Given the description of an element on the screen output the (x, y) to click on. 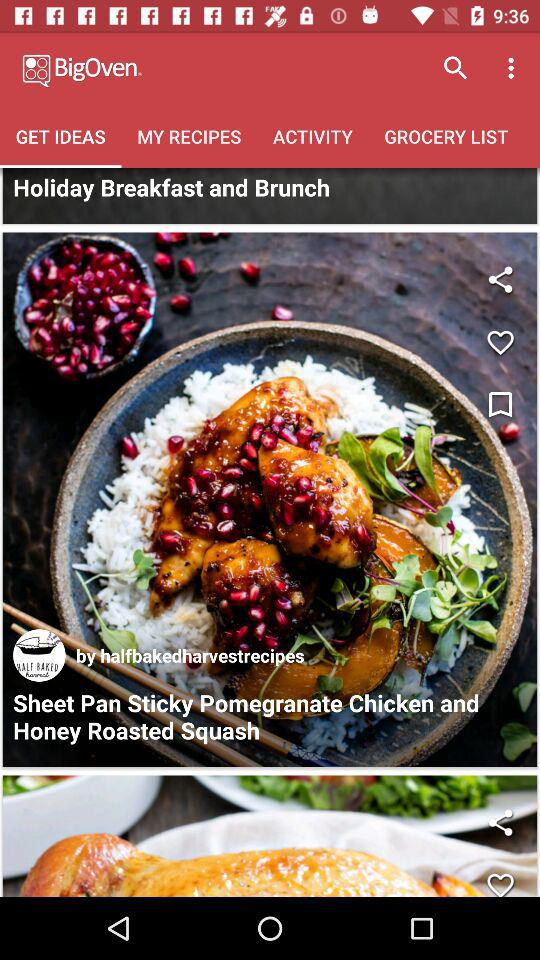
open recipe (269, 499)
